Given the description of an element on the screen output the (x, y) to click on. 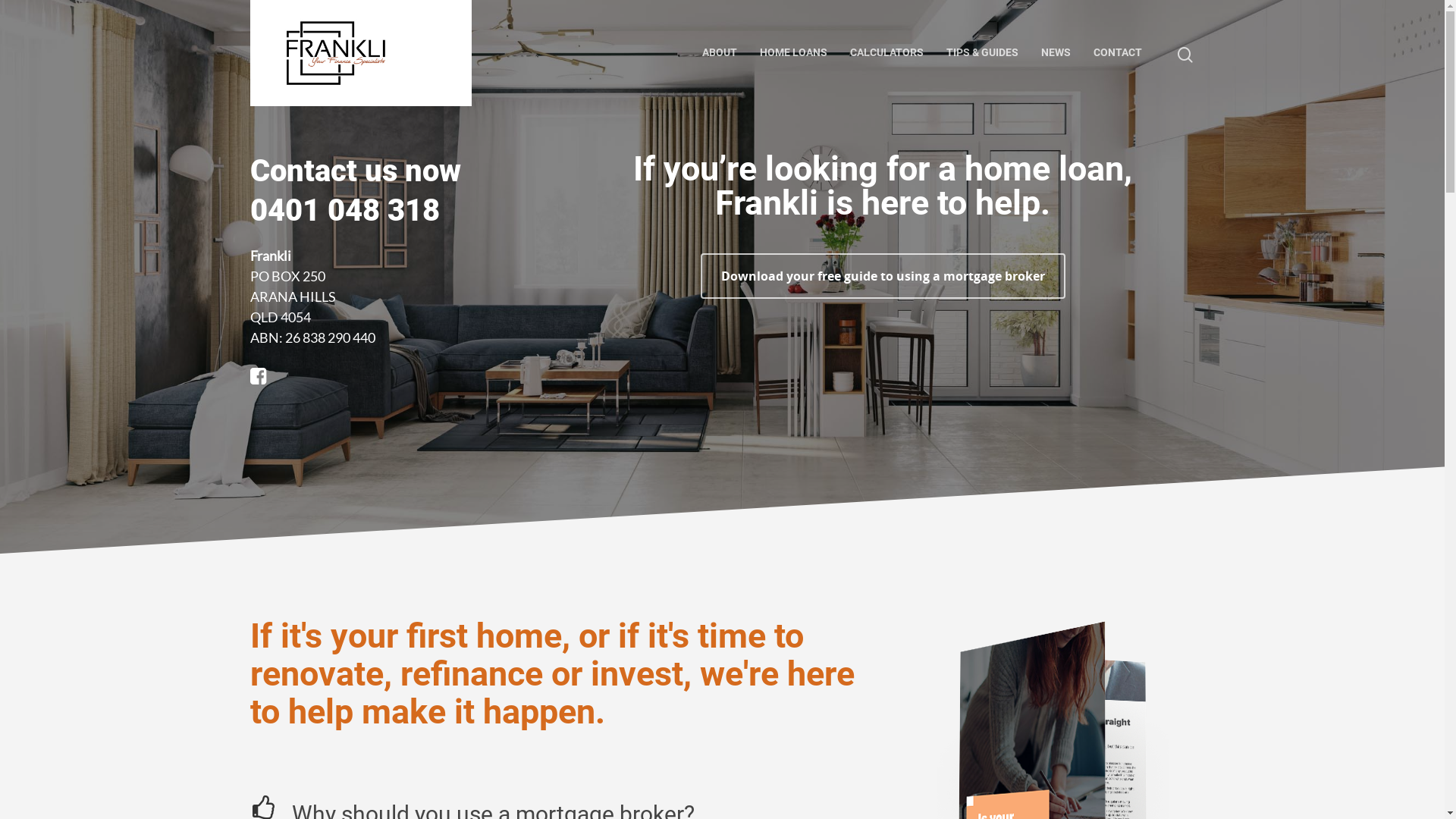
Download your free guide to using a mortgage broker Element type: text (882, 275)
NEWS Element type: text (1055, 52)
TIPS & GUIDES Element type: text (982, 52)
CONTACT Element type: text (1117, 52)
ABOUT Element type: text (719, 52)
0401 048 318 Element type: text (344, 210)
HOME LOANS Element type: text (793, 52)
CALCULATORS Element type: text (886, 52)
